Given the description of an element on the screen output the (x, y) to click on. 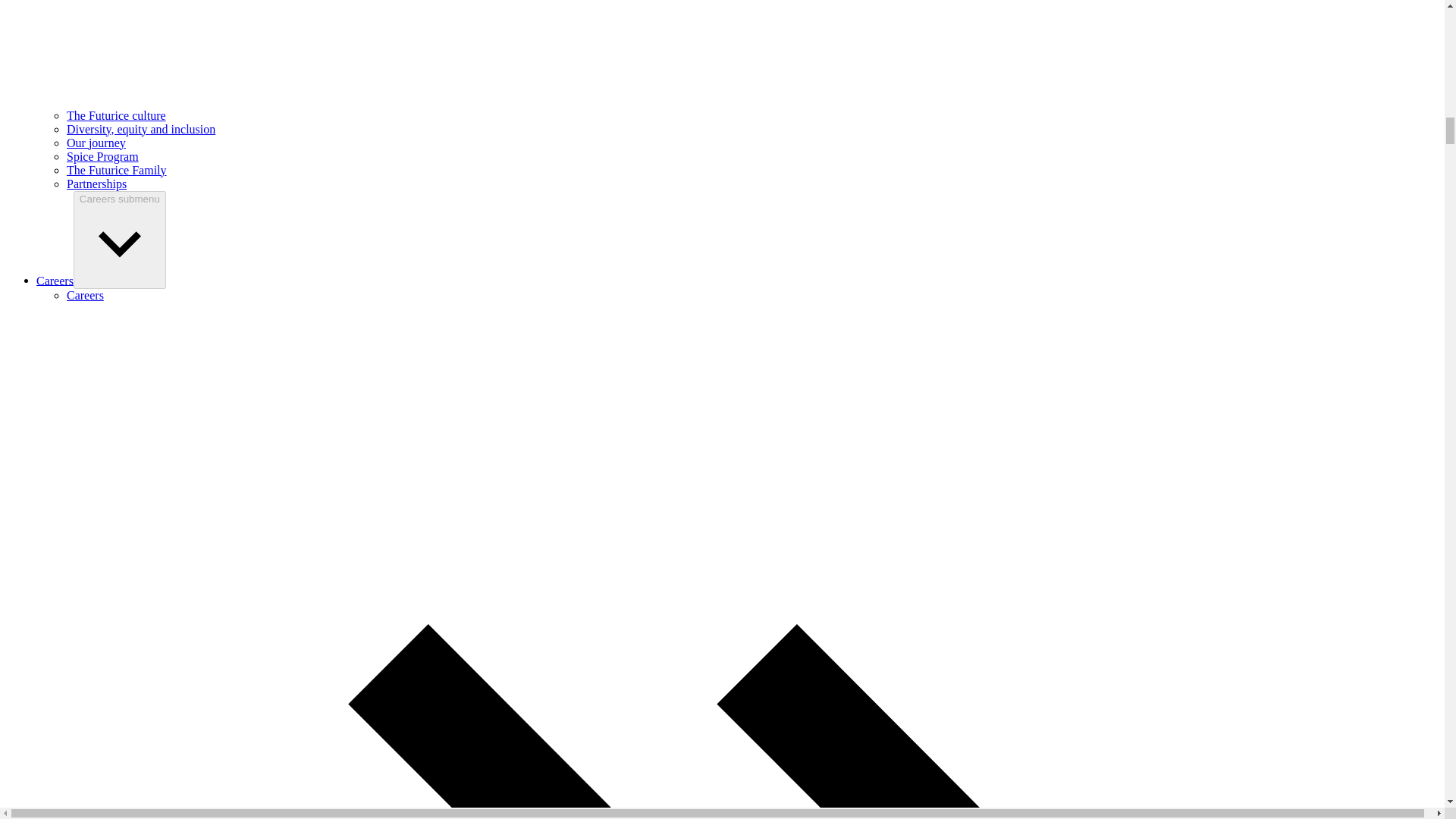
Partnerships (96, 183)
Diversity, equity and inclusion (140, 128)
Careers (55, 279)
The Futurice culture (115, 115)
Spice Program (102, 155)
The Futurice Family (116, 169)
Our journey (95, 142)
Careers submenu (119, 239)
